Given the description of an element on the screen output the (x, y) to click on. 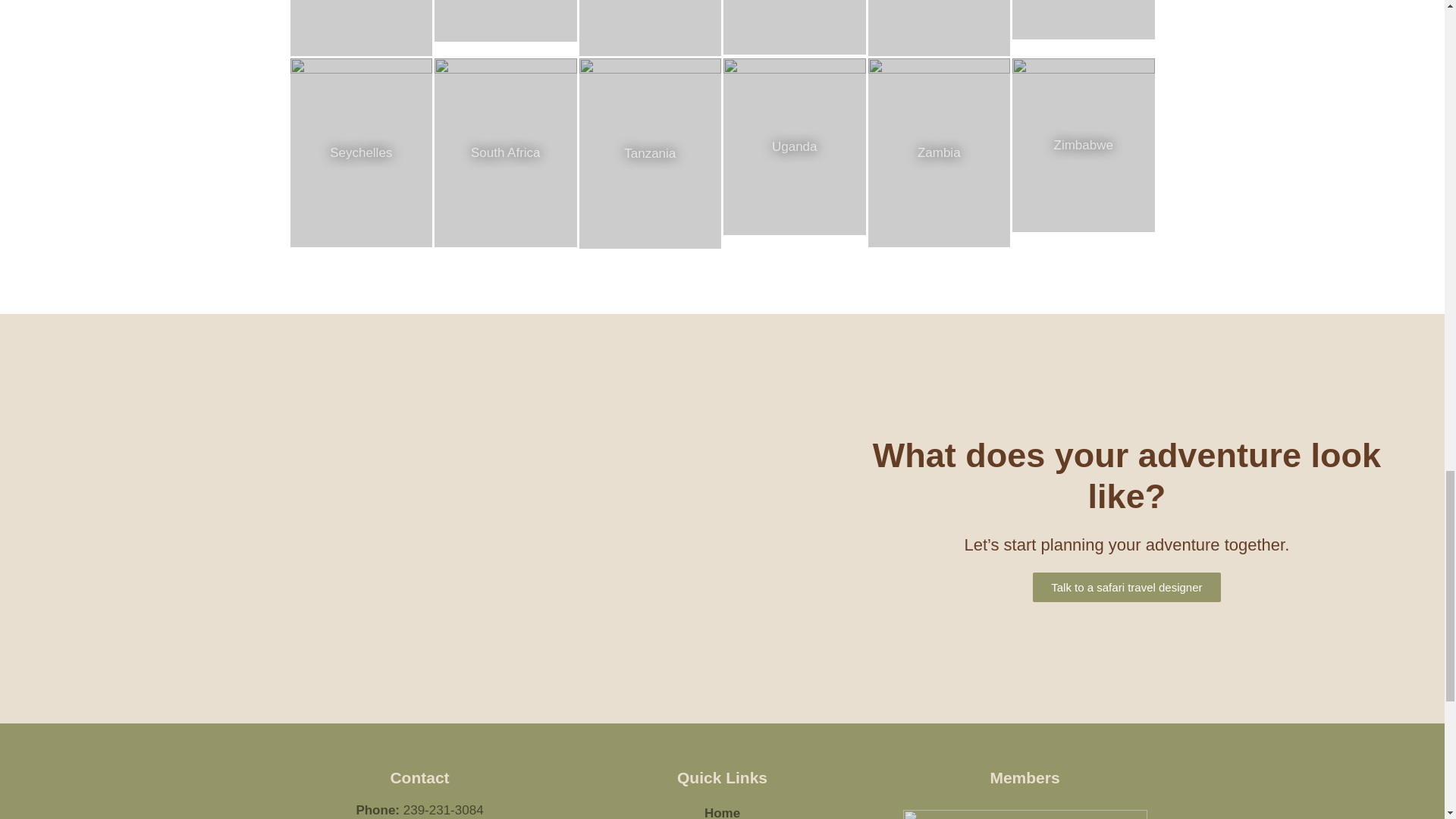
Namibia (794, 27)
239-231-3084 (443, 810)
Talk to a safari travel designer (1126, 586)
Mauritius (360, 28)
Mozambique (650, 28)
Rwanda (1082, 19)
Republic of the Congo (938, 28)
Morocco (504, 20)
